Given the description of an element on the screen output the (x, y) to click on. 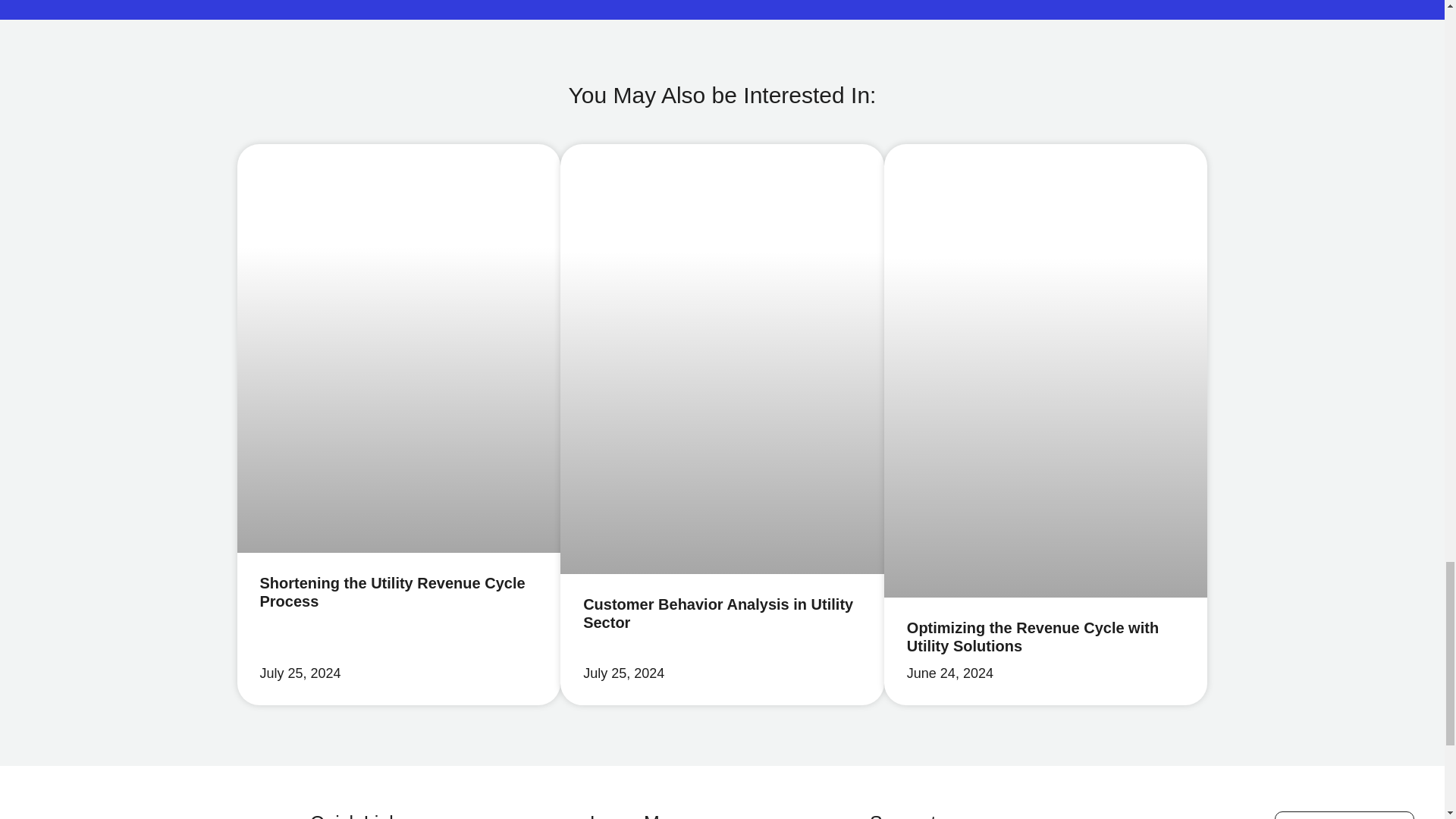
Shortening the Utility Revenue Cycle Process (391, 591)
request demo (1344, 815)
Customer Behavior Analysis in Utility Sector (718, 613)
Optimizing the Revenue Cycle with Utility Solutions (1032, 636)
